Given the description of an element on the screen output the (x, y) to click on. 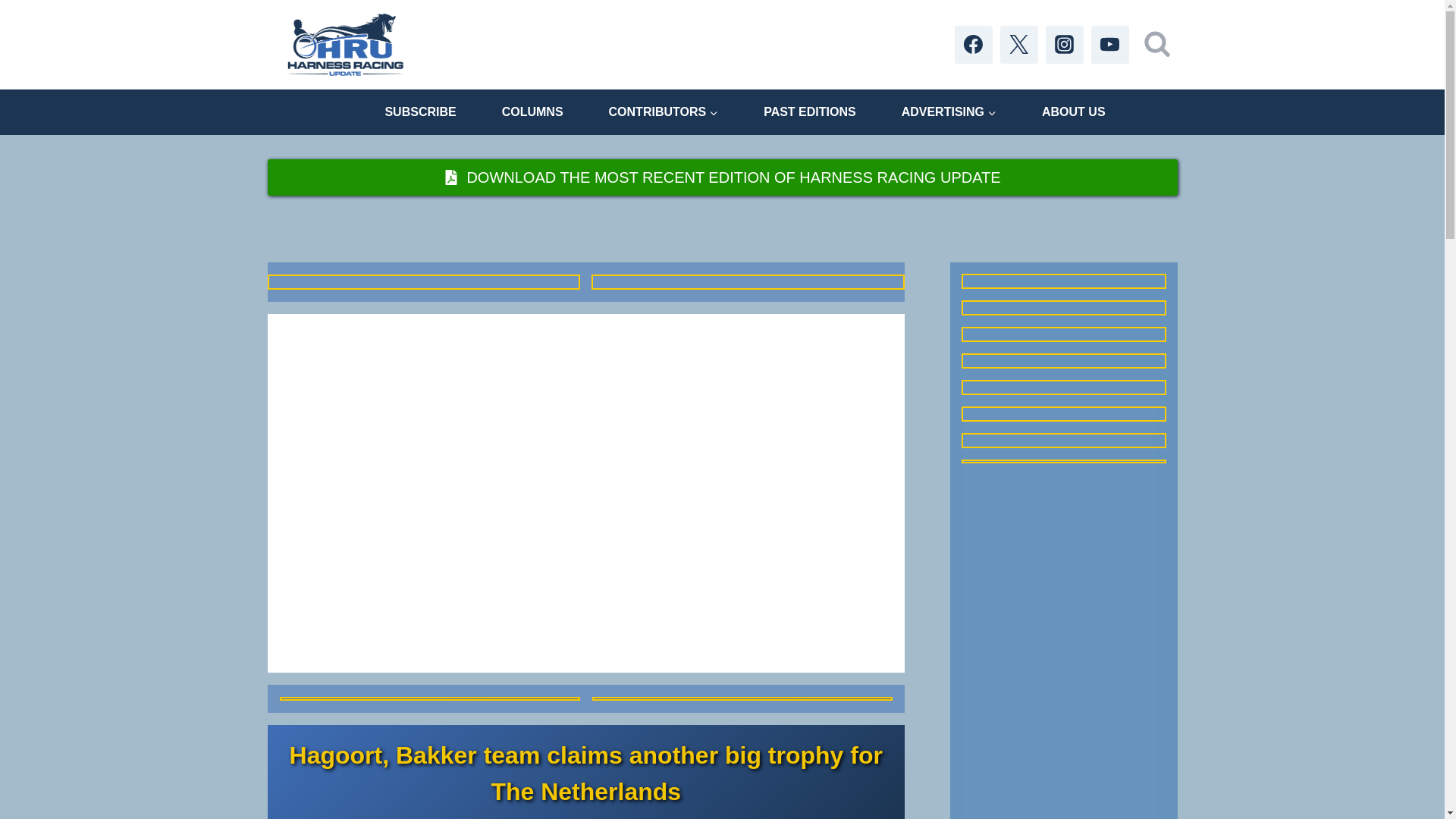
DOWNLOAD THE MOST RECENT EDITION OF HARNESS RACING UPDATE (721, 176)
SUBSCRIBE (420, 111)
CONTRIBUTORS (663, 111)
ABOUT US (1073, 111)
COLUMNS (532, 111)
ADVERTISING (949, 111)
PAST EDITIONS (810, 111)
